Given the description of an element on the screen output the (x, y) to click on. 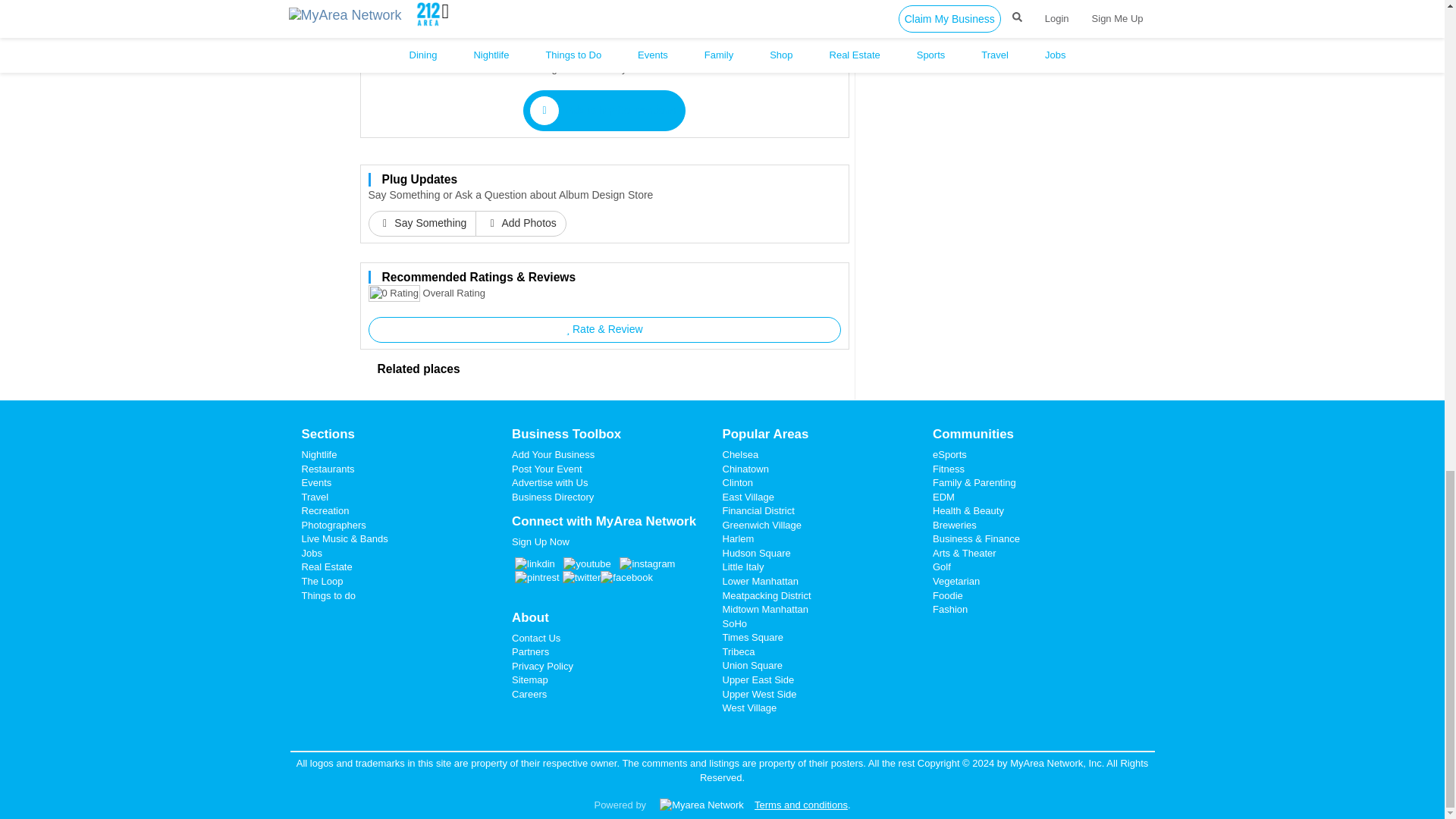
Add Photos (521, 223)
Add to My Connections (603, 110)
Say Something (422, 223)
